Given the description of an element on the screen output the (x, y) to click on. 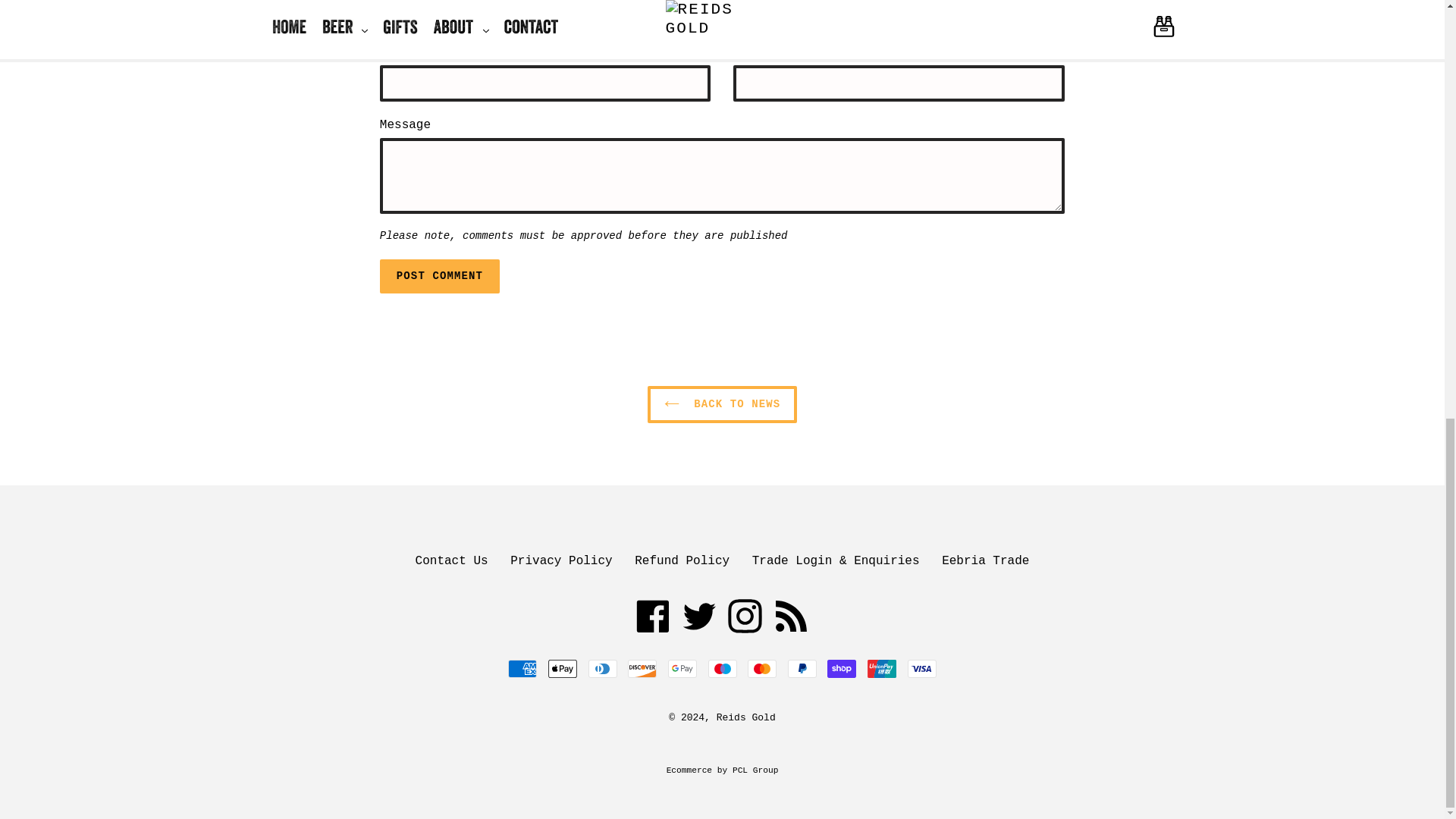
PayPal (801, 669)
Mastercard (762, 669)
Union Pay (881, 669)
Eebria Trade (985, 561)
Maestro (721, 669)
Visa (921, 669)
Google Pay (682, 669)
Apple Pay (562, 669)
Refund Policy (681, 561)
Post comment (439, 276)
